Given the description of an element on the screen output the (x, y) to click on. 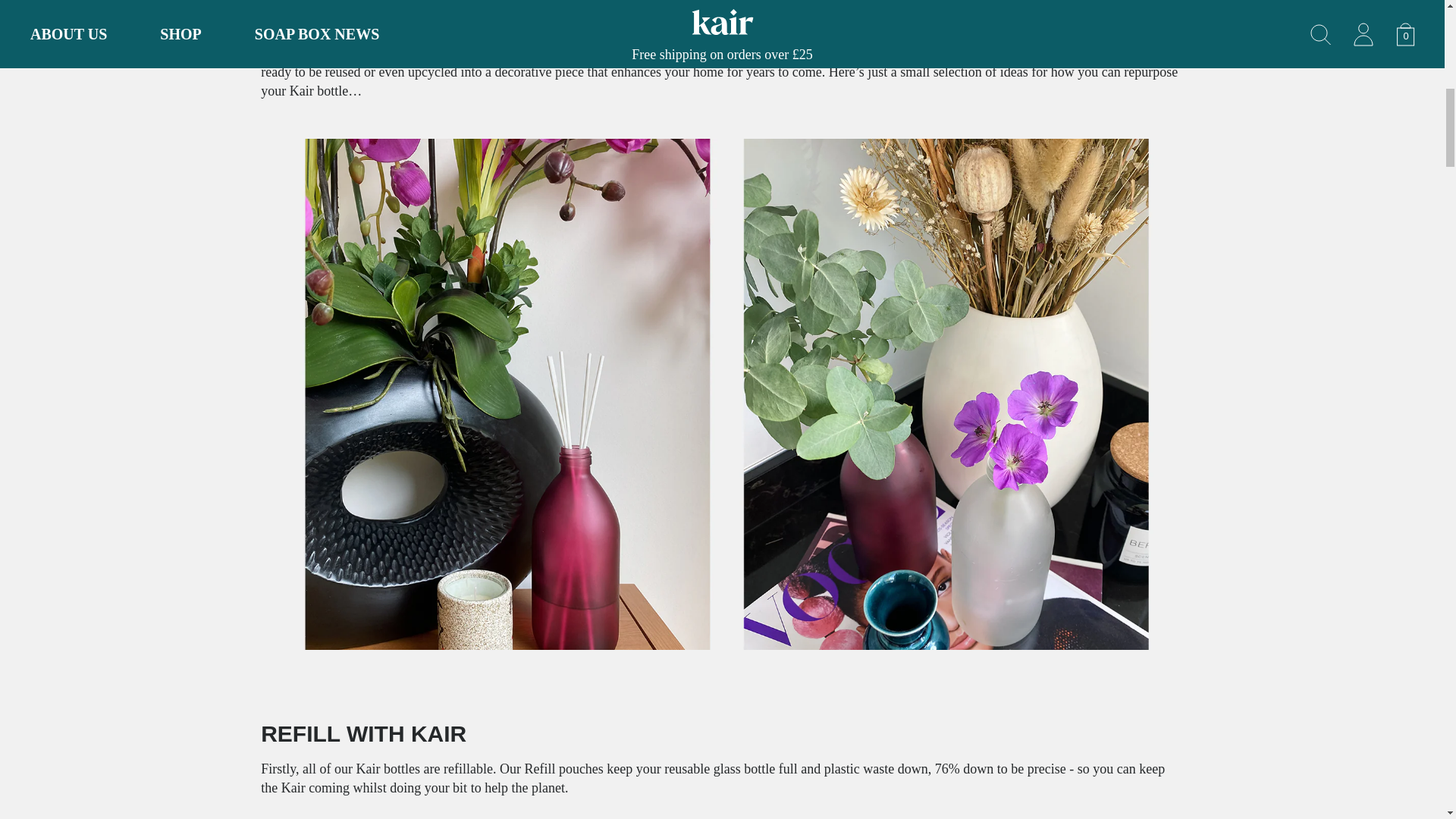
Privacy Policy (558, 14)
